Given the description of an element on the screen output the (x, y) to click on. 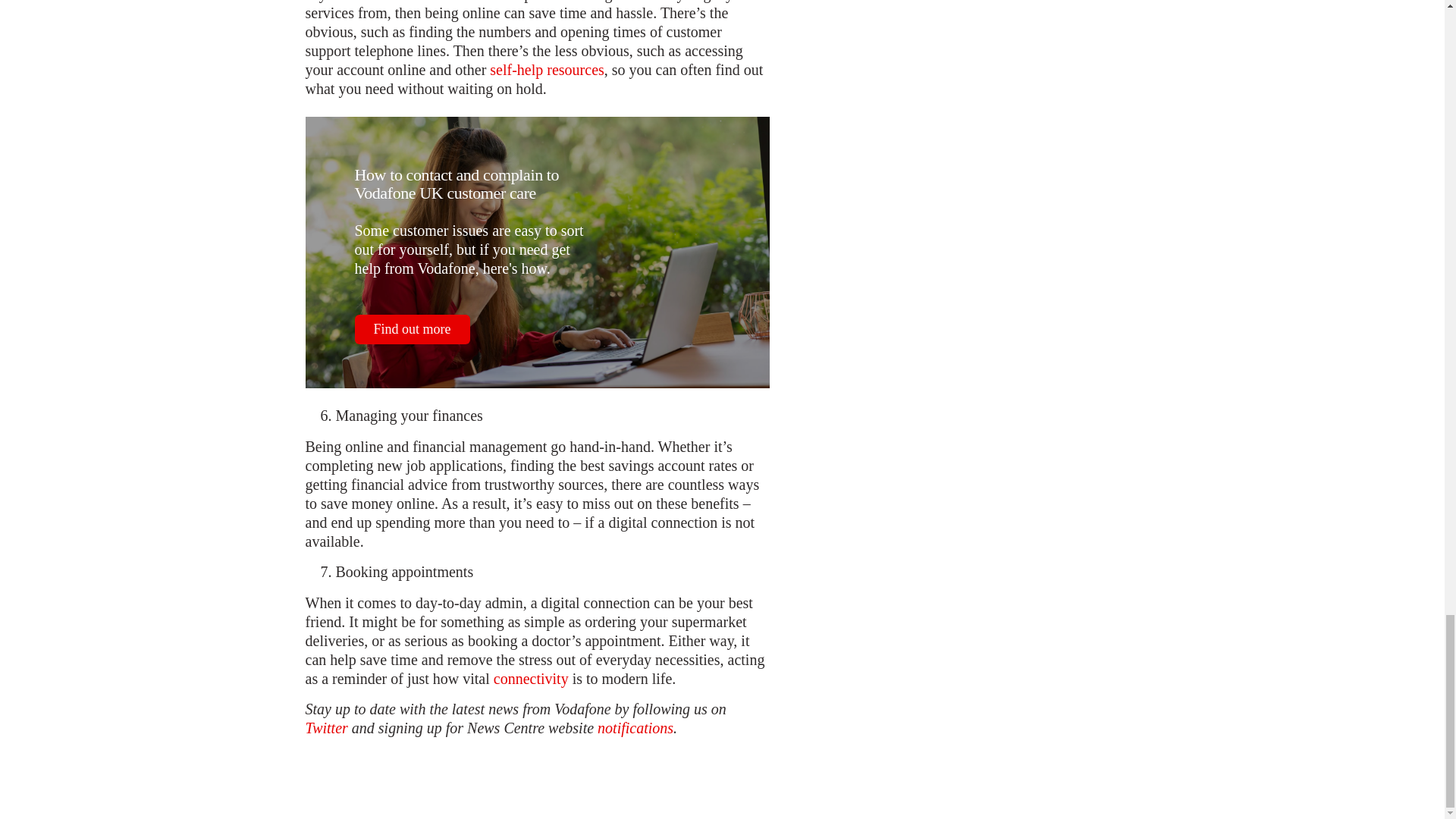
Find out more (412, 328)
connectivity (531, 678)
self-help resources (546, 69)
notifications (634, 728)
Twitter (325, 728)
